Given the description of an element on the screen output the (x, y) to click on. 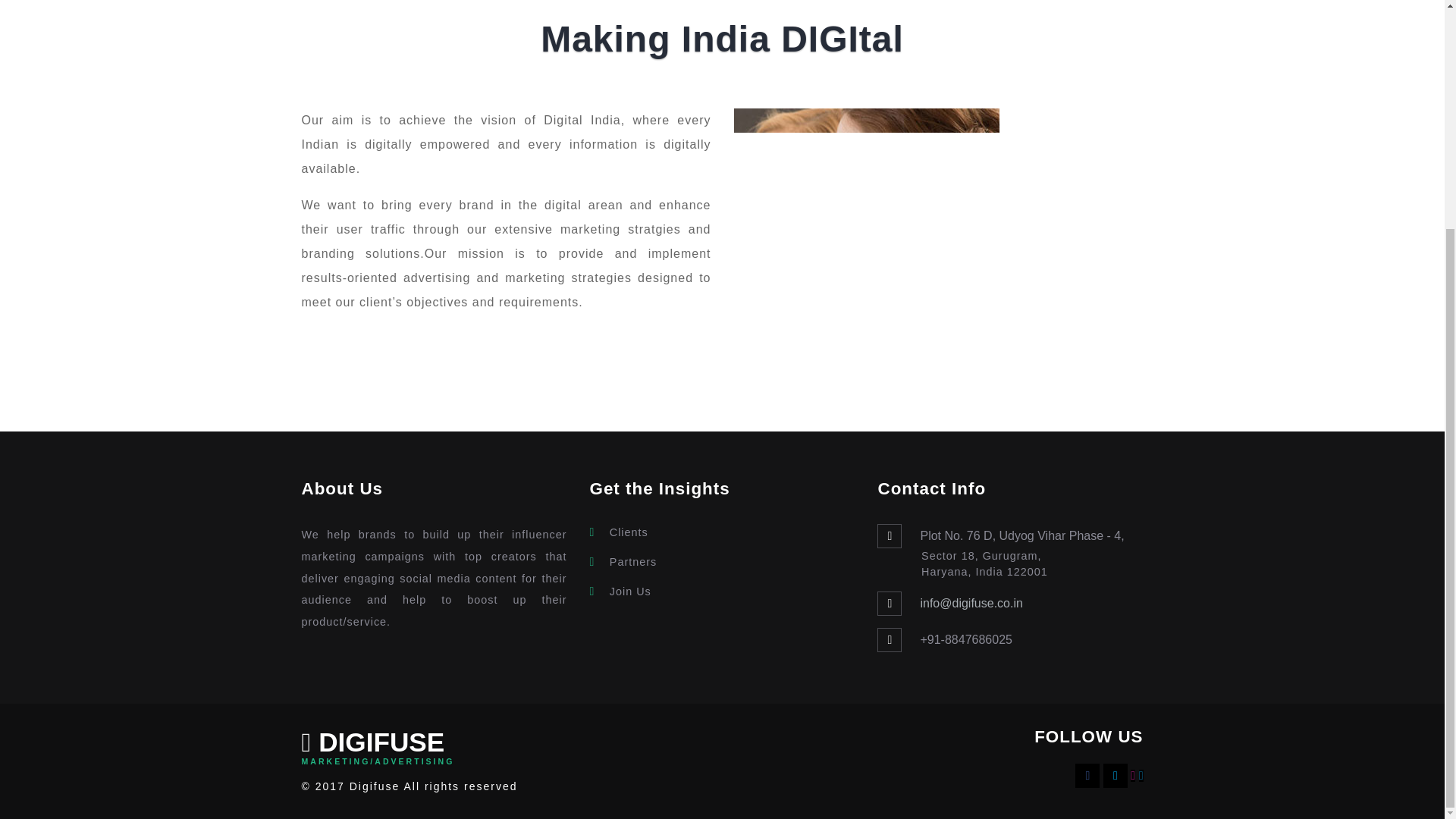
Clients (628, 532)
Join Us (630, 591)
Partners (633, 562)
